Given the description of an element on the screen output the (x, y) to click on. 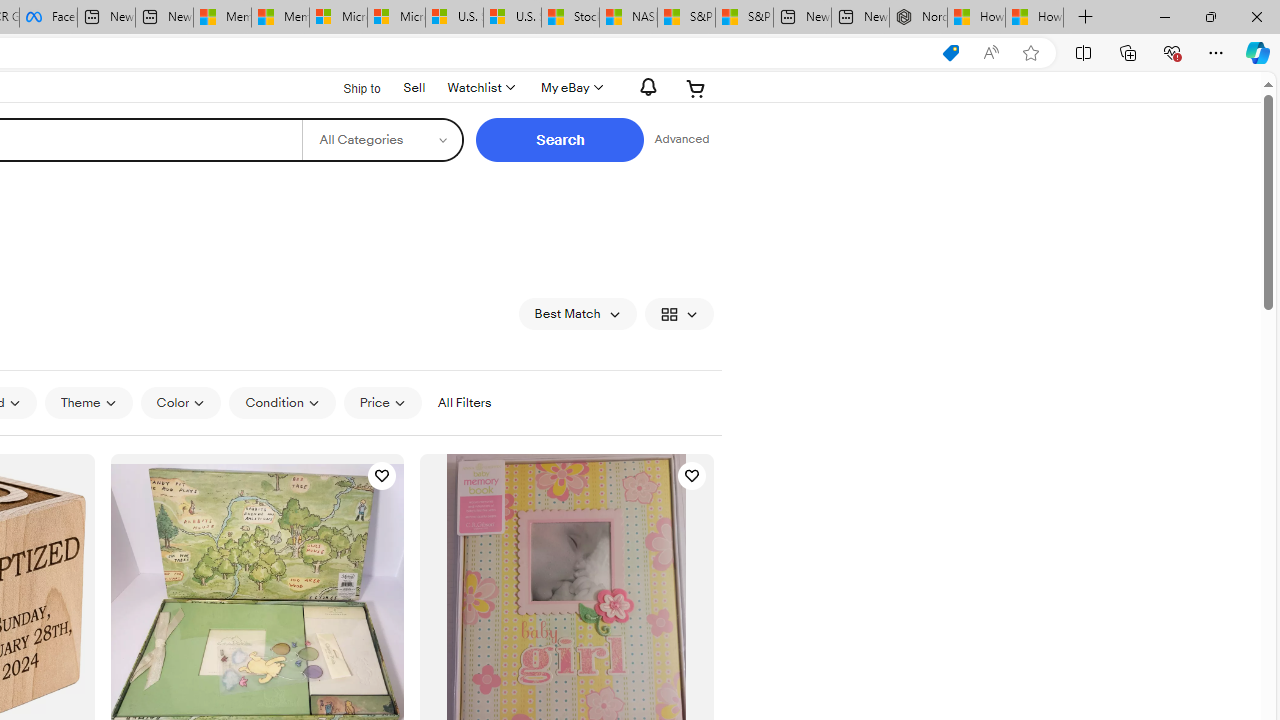
New Tab (1085, 17)
WatchlistExpand Watch List (479, 88)
How to Use a Monitor With Your Closed Laptop (1034, 17)
New tab (860, 17)
Facebook (48, 17)
Ship to (349, 86)
Price (382, 403)
Condition (282, 402)
Copilot (Ctrl+Shift+.) (1258, 52)
Condition (282, 403)
Ship to (349, 89)
My eBay (569, 88)
